Given the description of an element on the screen output the (x, y) to click on. 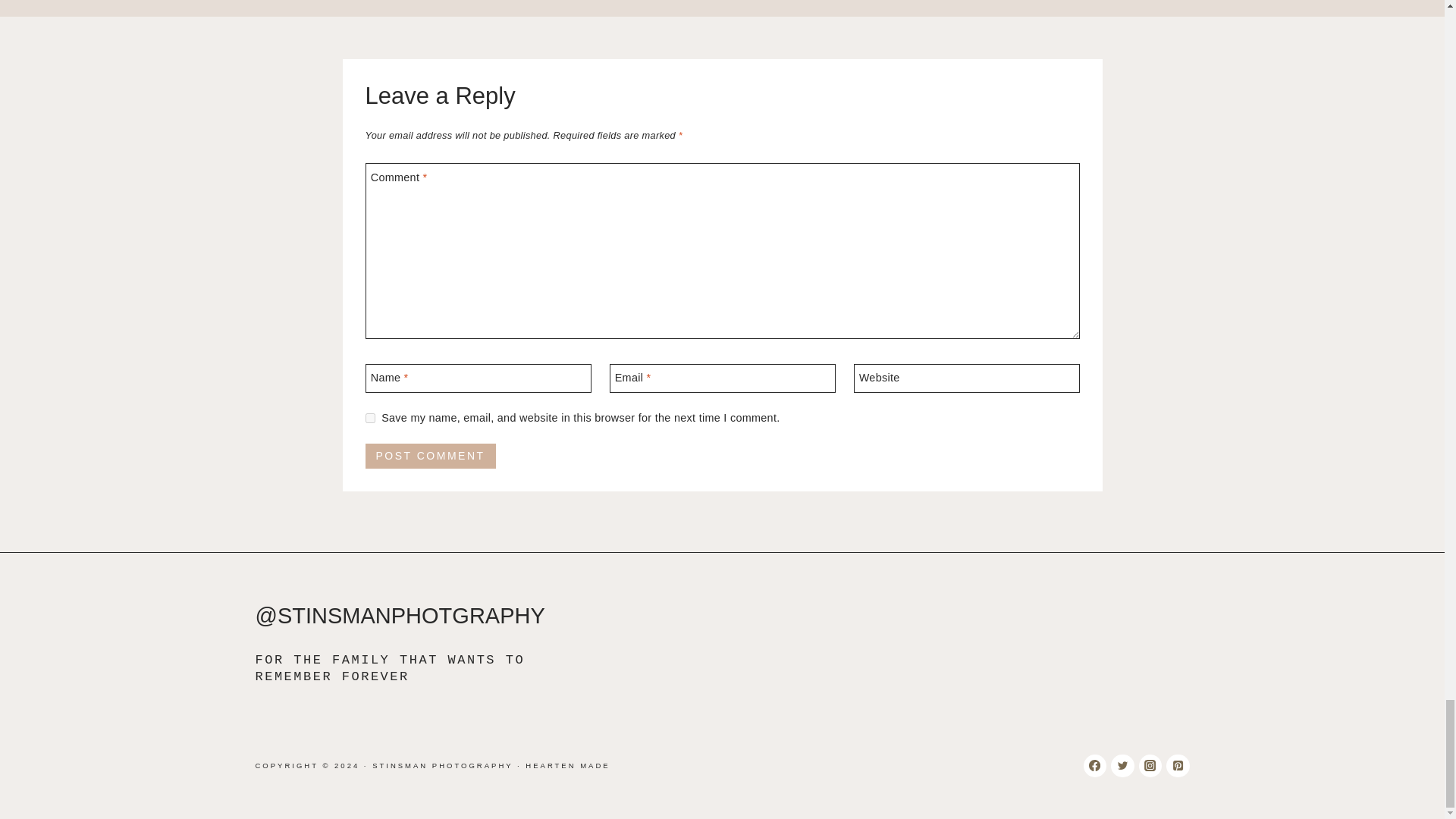
Post Comment (430, 456)
yes (370, 418)
